Given the description of an element on the screen output the (x, y) to click on. 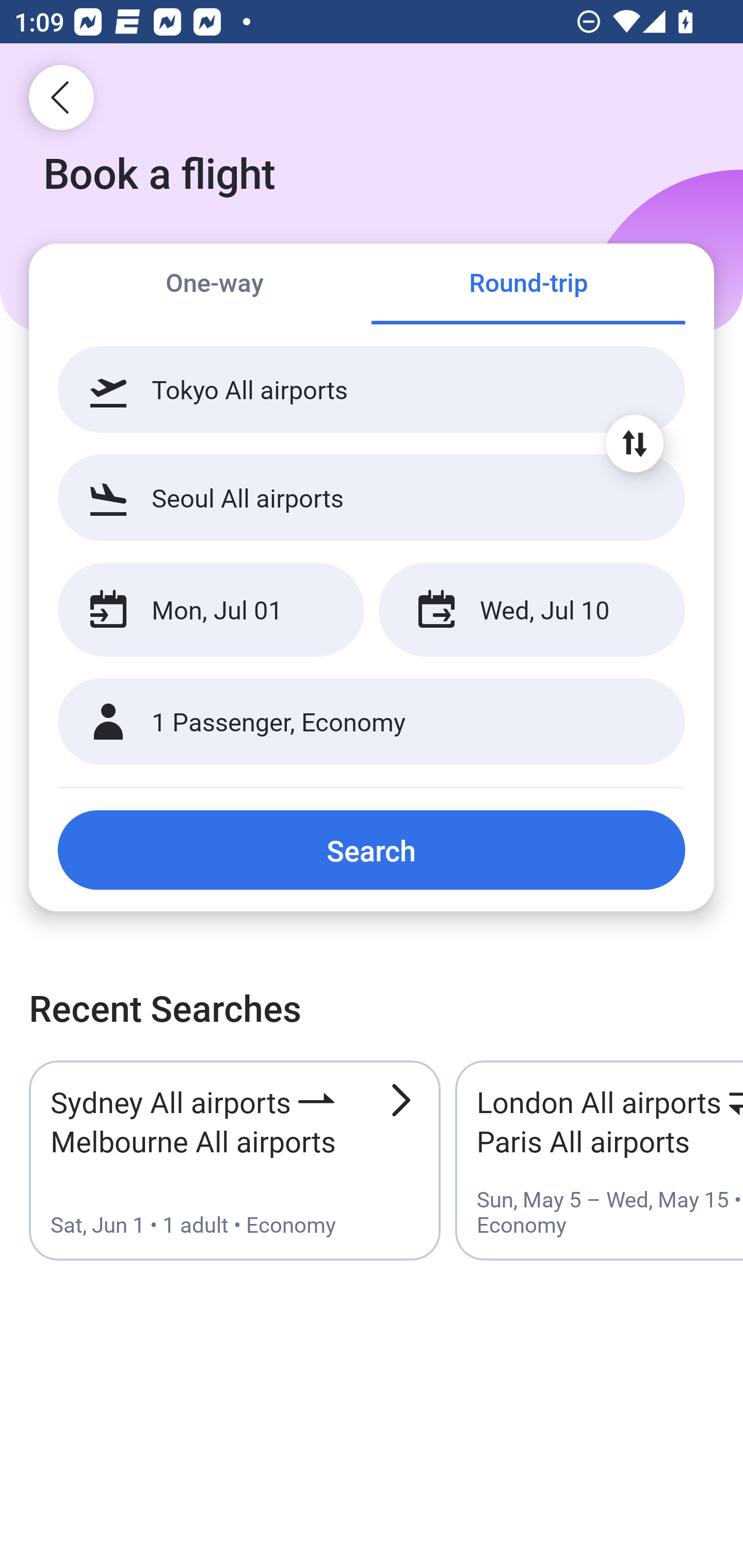
One-way (214, 284)
Tokyo All airports (371, 389)
Seoul All airports (371, 497)
Mon, Jul 01 (210, 609)
Wed, Jul 10 (531, 609)
1 Passenger, Economy (371, 721)
Search (371, 849)
